Given the description of an element on the screen output the (x, y) to click on. 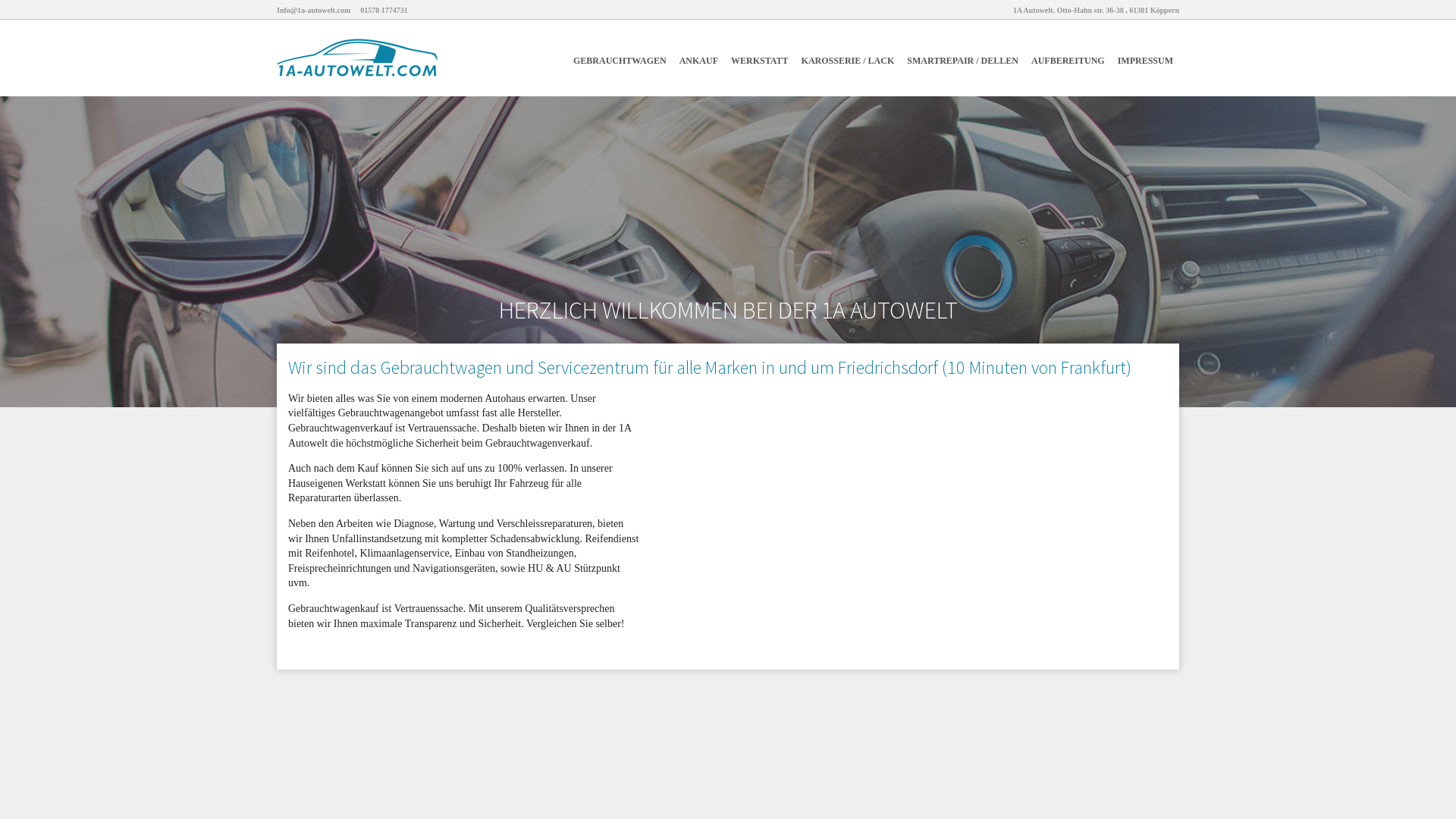
AUFBEREITUNG Element type: text (1067, 58)
Info@1a-autowelt.com Element type: text (313, 10)
ANKAUF Element type: text (698, 58)
GEBRAUCHTWAGEN Element type: text (619, 58)
WERKSTATT Element type: text (759, 58)
01578 1774731 Element type: text (383, 10)
IMPRESSUM Element type: text (1145, 58)
SMARTREPAIR / DELLEN Element type: text (962, 58)
KAROSSERIE / LACK Element type: text (848, 58)
